Given the description of an element on the screen output the (x, y) to click on. 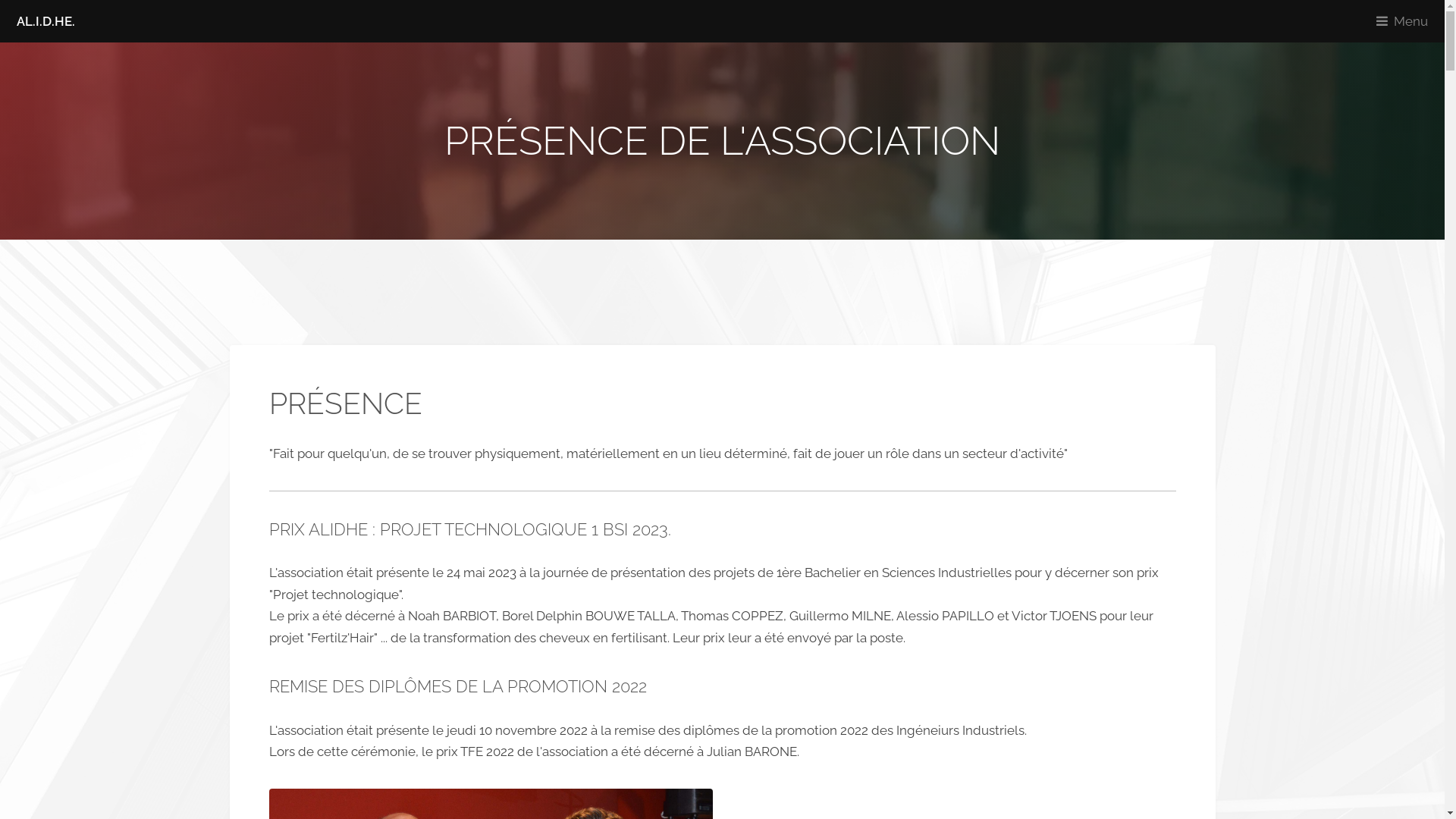
Menu Element type: text (1405, 21)
AL.I.D.HE. Element type: text (45, 21)
